Given the description of an element on the screen output the (x, y) to click on. 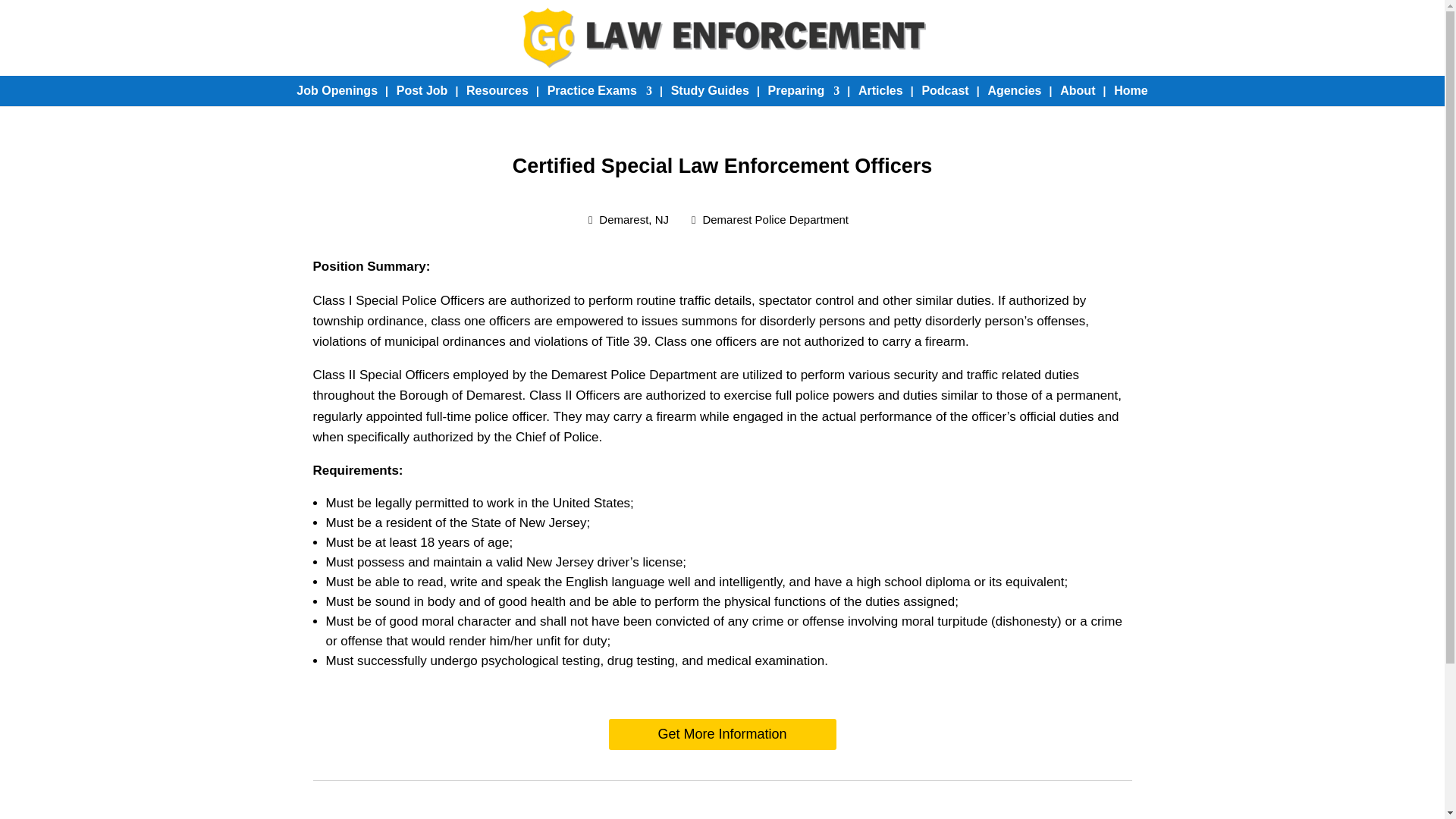
Study Guides (710, 91)
Job Openings (337, 91)
Home (1130, 91)
Post Job (422, 91)
Agencies (1014, 91)
Practice Exams (599, 91)
Resources (496, 91)
Articles (880, 91)
Podcast (944, 91)
About (1076, 91)
Preparing (804, 91)
